Given the description of an element on the screen output the (x, y) to click on. 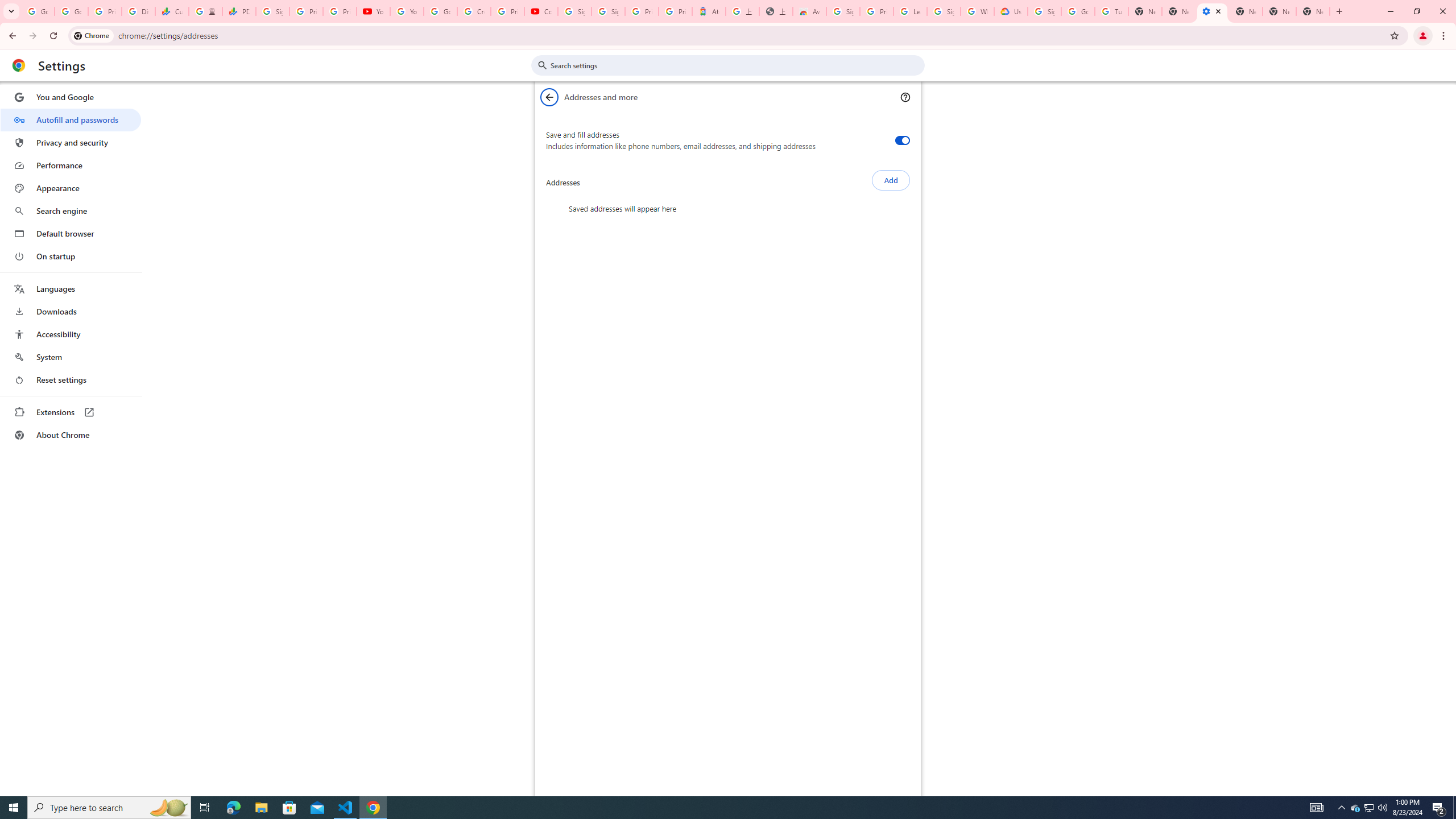
Content Creator Programs & Opportunities - YouTube Creators (541, 11)
Autofill and passwords (70, 119)
New Tab (1246, 11)
AutomationID: menu (71, 265)
About Chrome (70, 434)
Downloads (70, 311)
YouTube (372, 11)
Reset settings (70, 379)
Sign in - Google Accounts (272, 11)
On startup (70, 255)
